Given the description of an element on the screen output the (x, y) to click on. 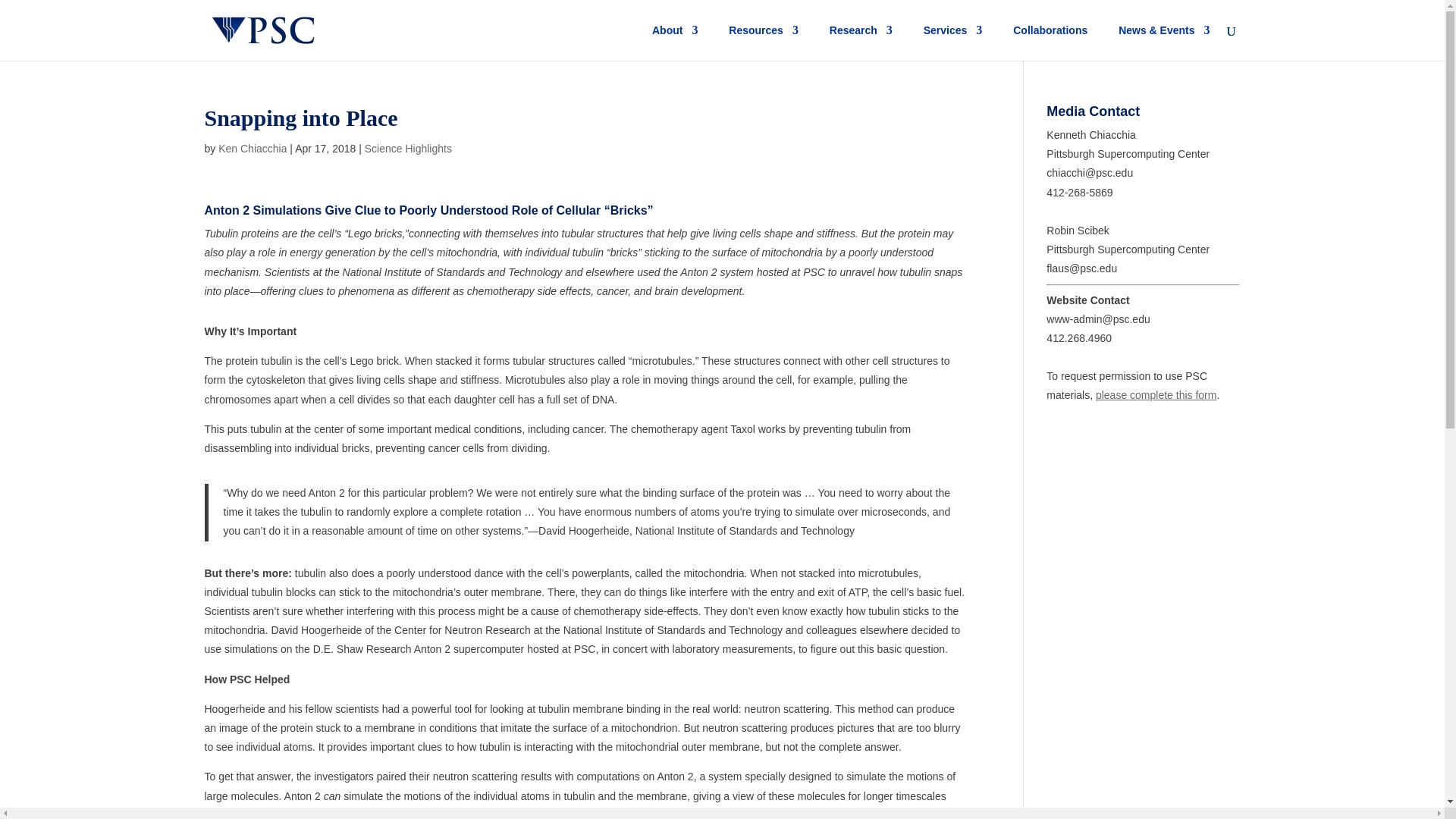
Services (952, 42)
About (674, 42)
Posts by Ken Chiacchia (252, 148)
Research (860, 42)
Collaborations (1050, 42)
Resources (763, 42)
